Given the description of an element on the screen output the (x, y) to click on. 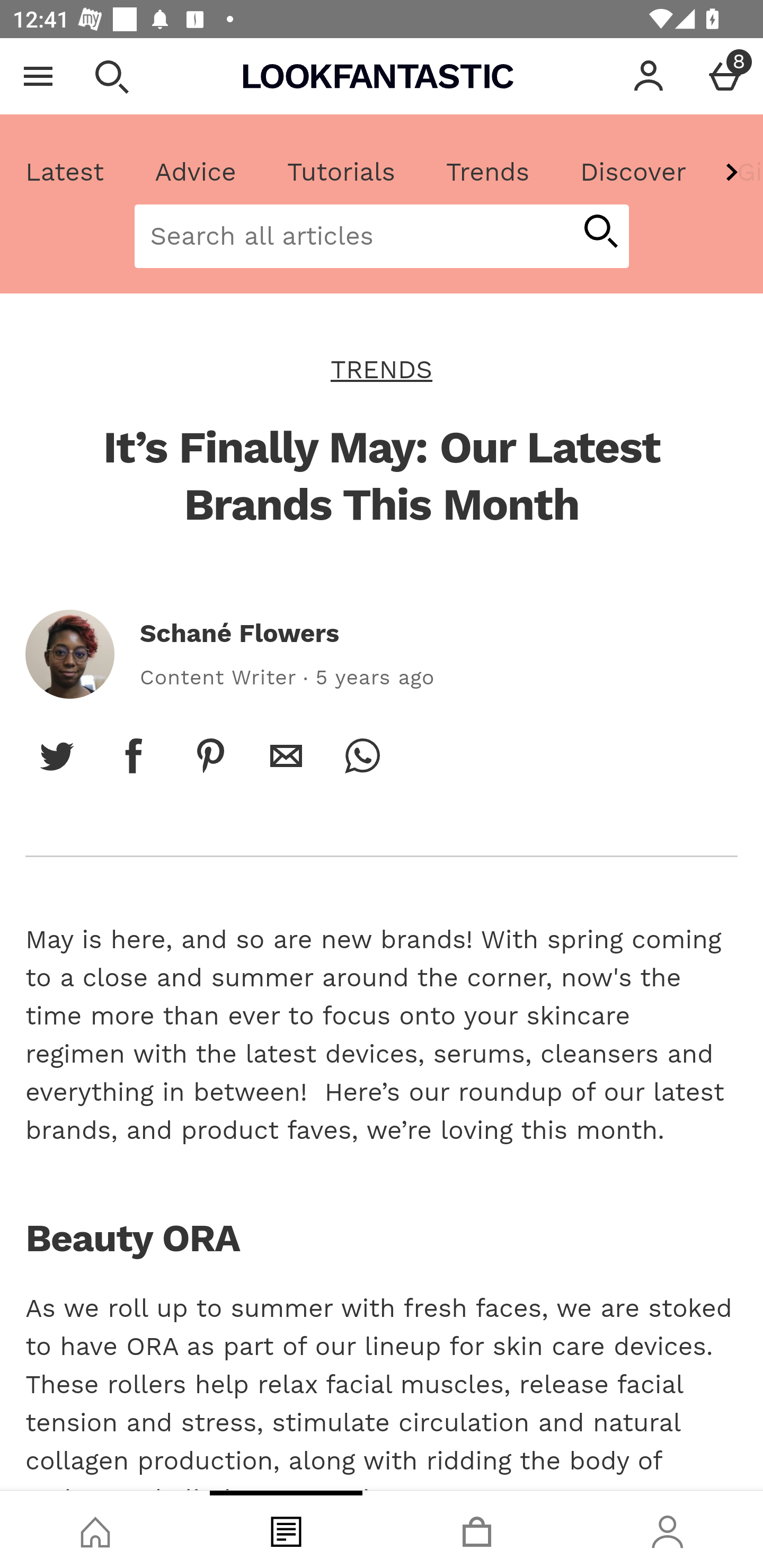
Open Menu (38, 75)
Open search (111, 75)
Account (648, 75)
Basket Menu (724, 75)
Latest (65, 172)
Advice (195, 172)
Tutorials (340, 172)
Trends (486, 172)
Discover (632, 172)
Gift Guide (736, 172)
start article search (599, 232)
TRENDS (381, 369)
View Schané Flowers's profile (69, 653)
Schané Flowers (239, 633)
Share this on Twitter (57, 755)
Share this on Facebook (133, 755)
Share this on Pinterest (209, 755)
Share this by Email (286, 755)
Share this on WhatsApp (362, 755)
Shop, tab, 1 of 4 (95, 1529)
Blog, tab, 2 of 4 (285, 1529)
Basket, tab, 3 of 4 (476, 1529)
Account, tab, 4 of 4 (667, 1529)
